Given the description of an element on the screen output the (x, y) to click on. 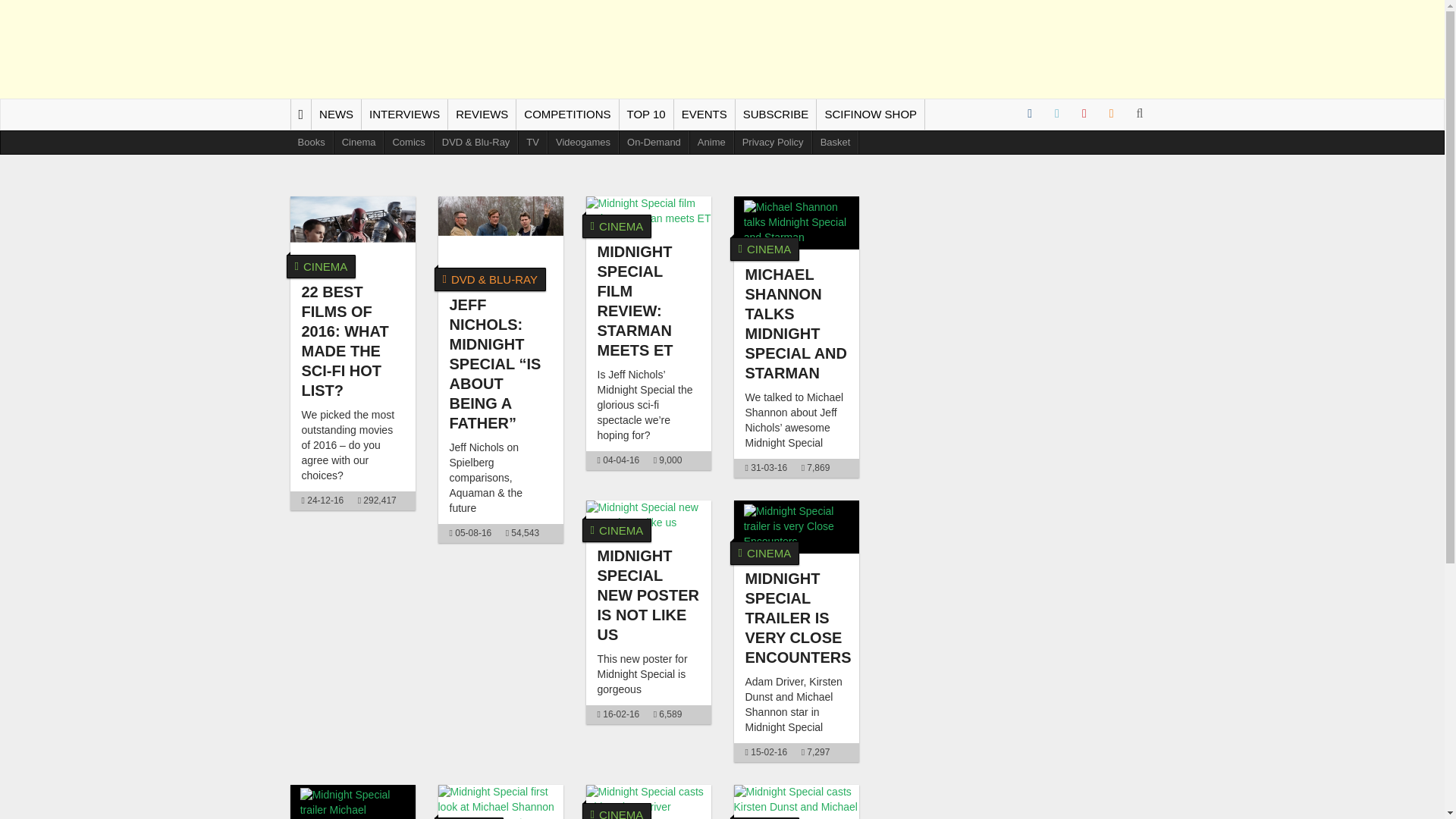
Comics (408, 142)
Twitter Page (1056, 113)
TV (532, 142)
Books (311, 142)
Privacy Policy (773, 142)
CINEMA (617, 226)
On-Demand (654, 142)
EVENTS (704, 114)
Youtube Page (1083, 113)
SCIFINOW SHOP (870, 114)
INTERVIEWS (403, 114)
Cinema (359, 142)
SUBSCRIBE (775, 114)
COMPETITIONS (566, 114)
RSS Feed (1111, 113)
